Given the description of an element on the screen output the (x, y) to click on. 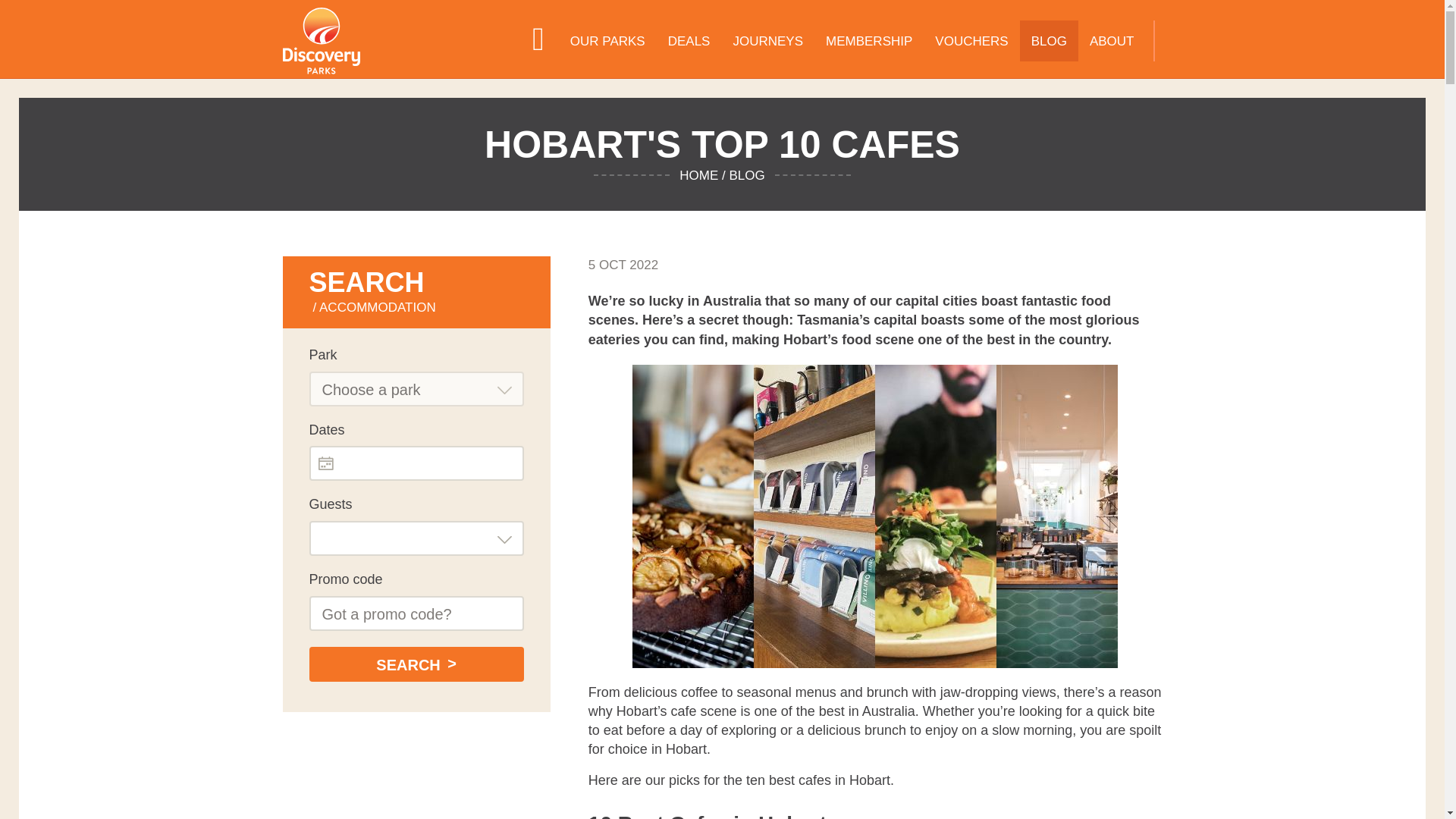
HOME (538, 40)
OUR PARKS (607, 41)
